Given the description of an element on the screen output the (x, y) to click on. 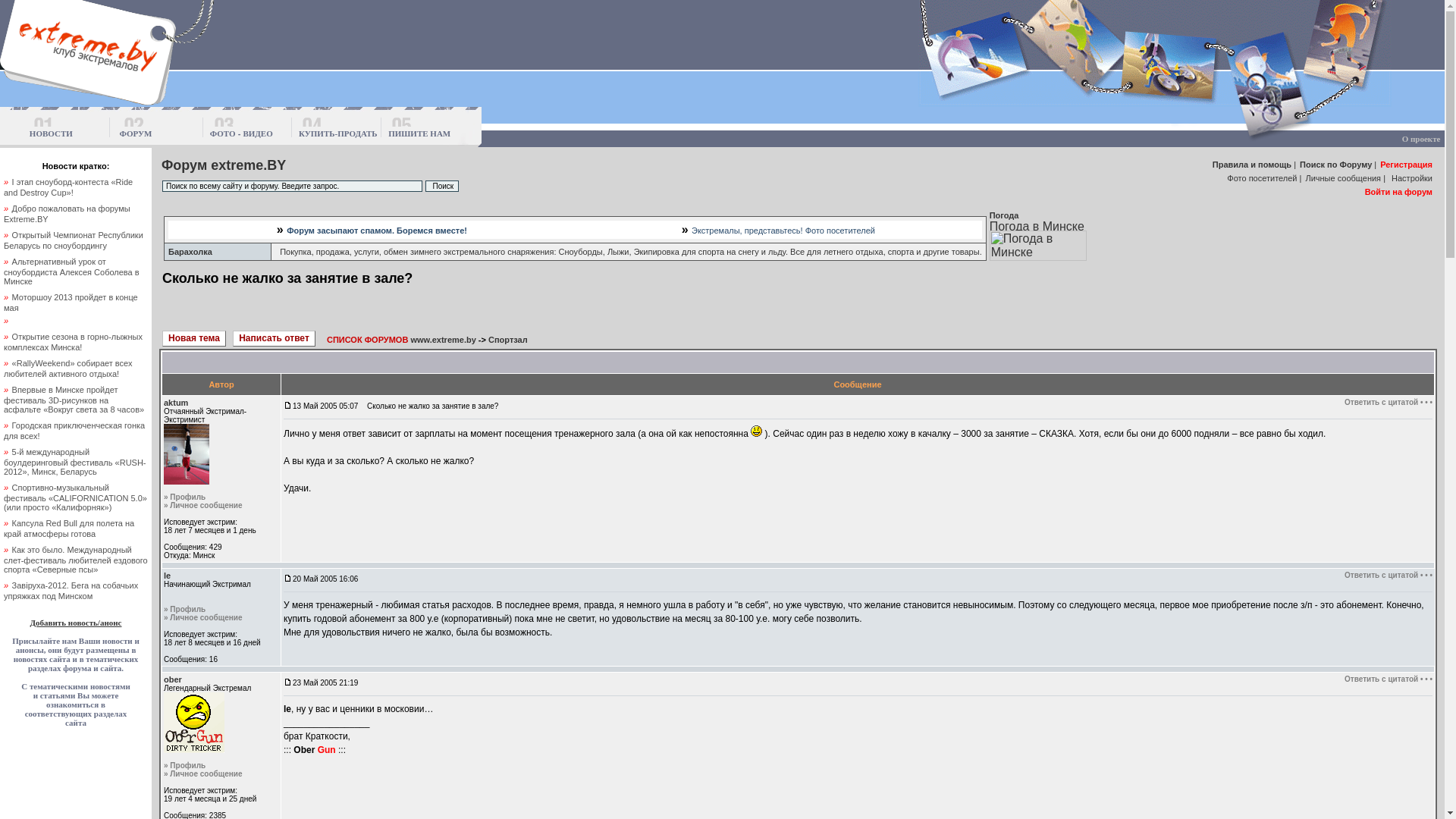
aktum Element type: text (175, 402)
ober Element type: text (172, 679)
le Element type: text (166, 575)
